Given the description of an element on the screen output the (x, y) to click on. 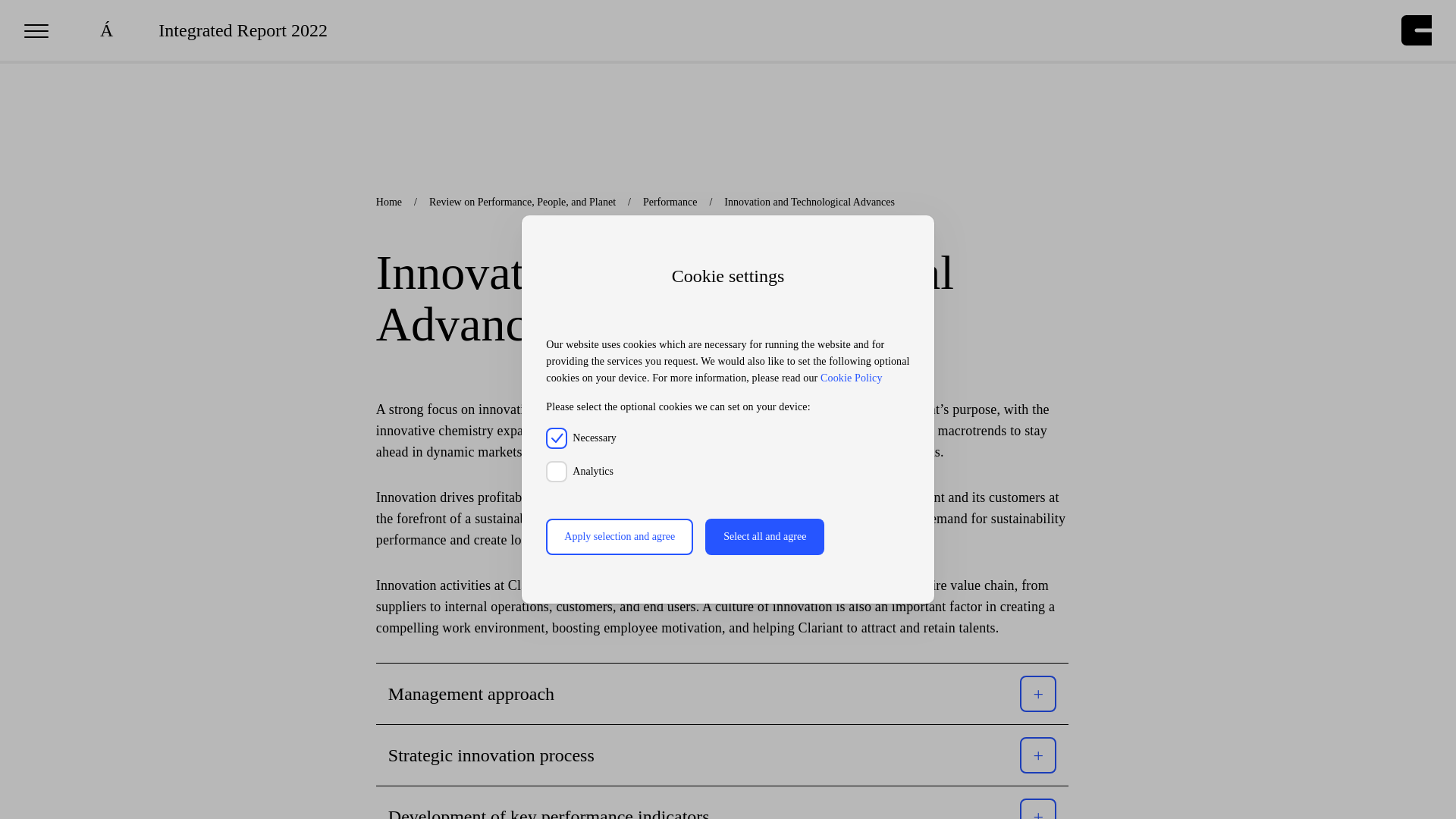
Review on Performance, People, and Planet (522, 202)
Home (388, 202)
plus (1037, 813)
Performance (670, 202)
Integrated Report 2022 (242, 30)
